Given the description of an element on the screen output the (x, y) to click on. 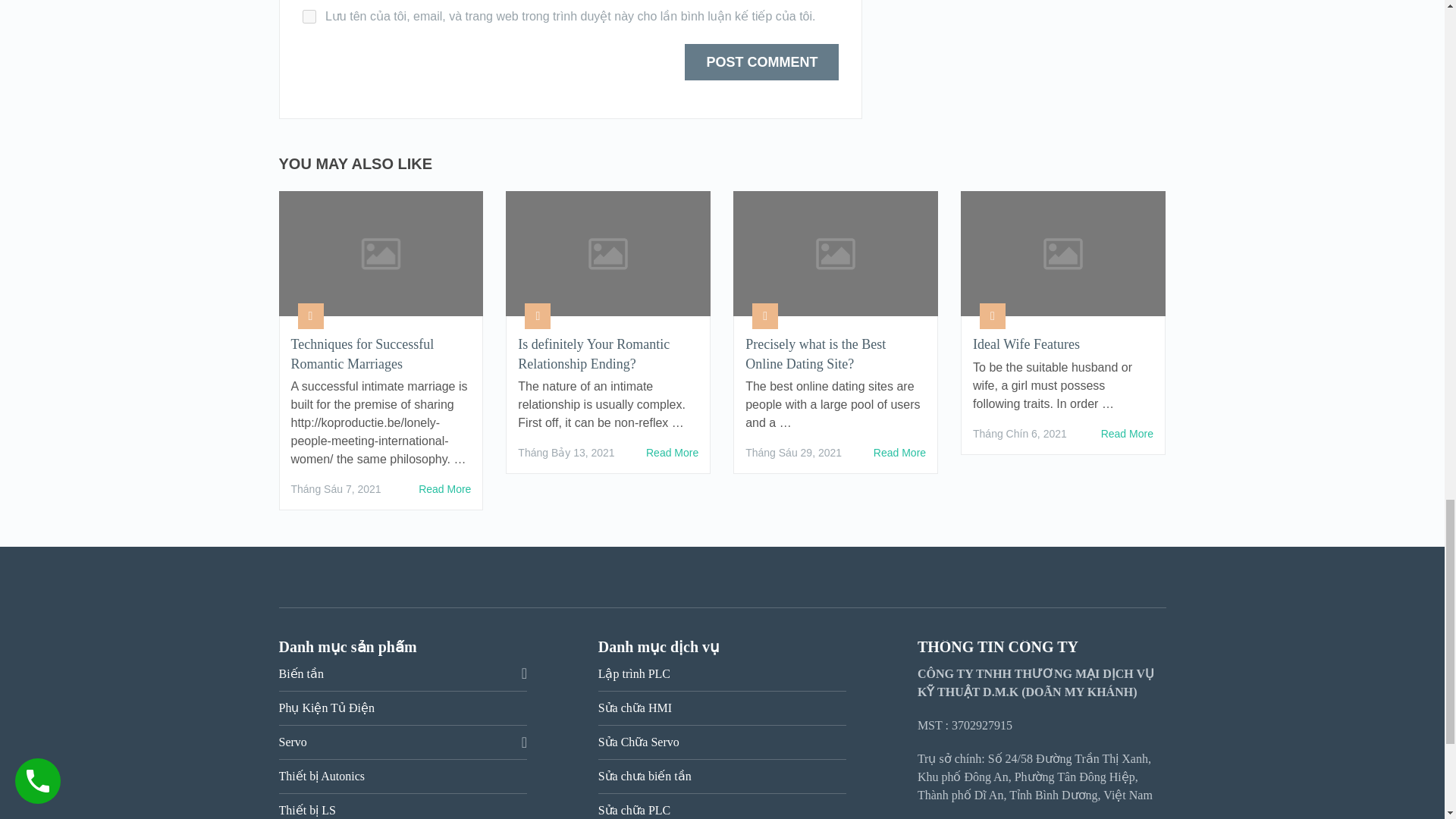
Is definitely Your Romantic Relationship Ending? (608, 353)
yes (308, 16)
Techniques for Successful Romantic Marriages (381, 353)
Post Comment (761, 62)
Ideal Wife Features (1126, 434)
Is definitely Your Romantic Relationship Ending? (672, 452)
Techniques for Successful Romantic Marriages (444, 488)
Precisely what is the Best Online Dating Site? (835, 353)
Ideal Wife Features (1062, 343)
Precisely what is the Best Online Dating Site? (899, 452)
